Given the description of an element on the screen output the (x, y) to click on. 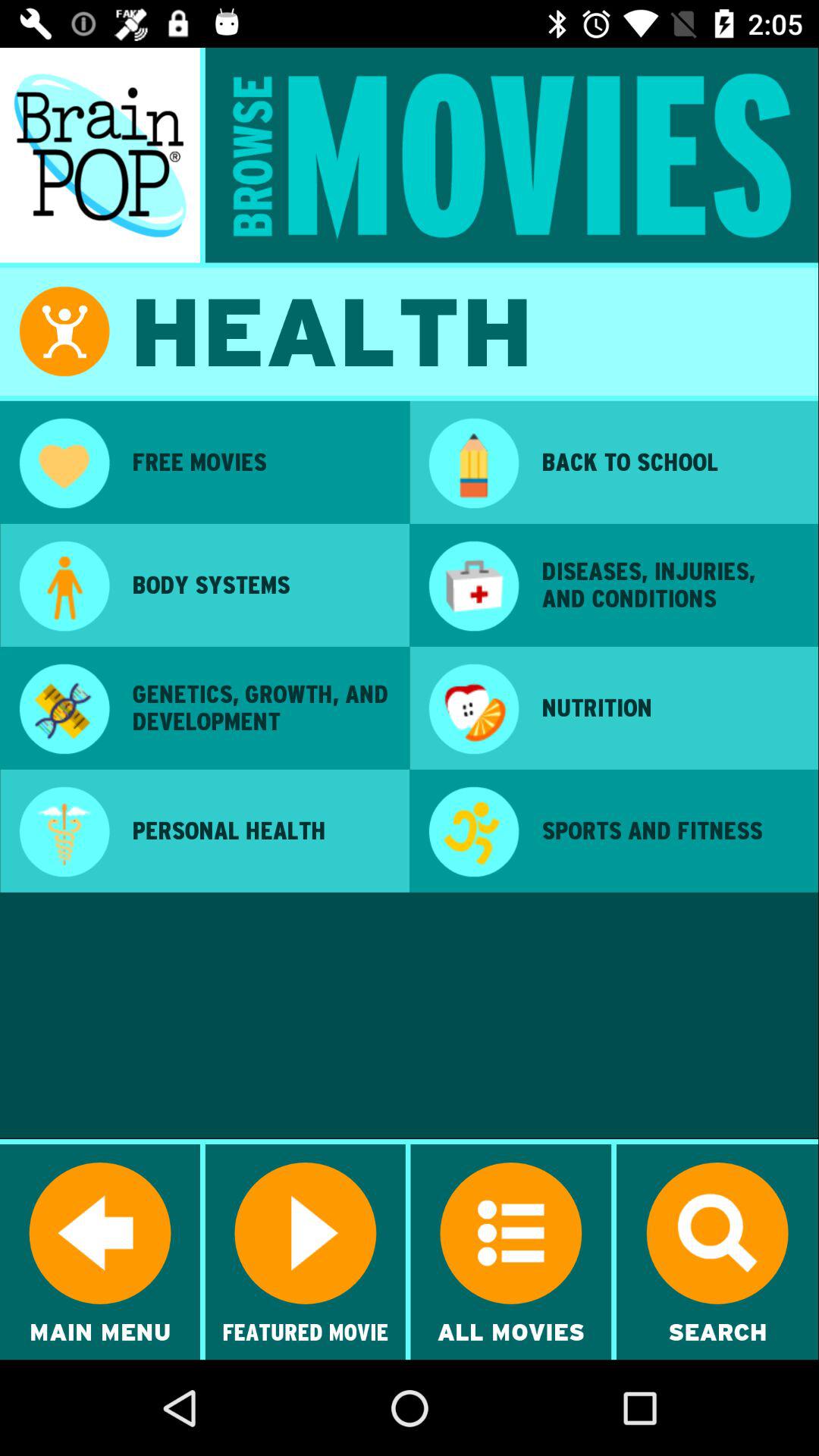
open the nutrition icon (670, 707)
